Given the description of an element on the screen output the (x, y) to click on. 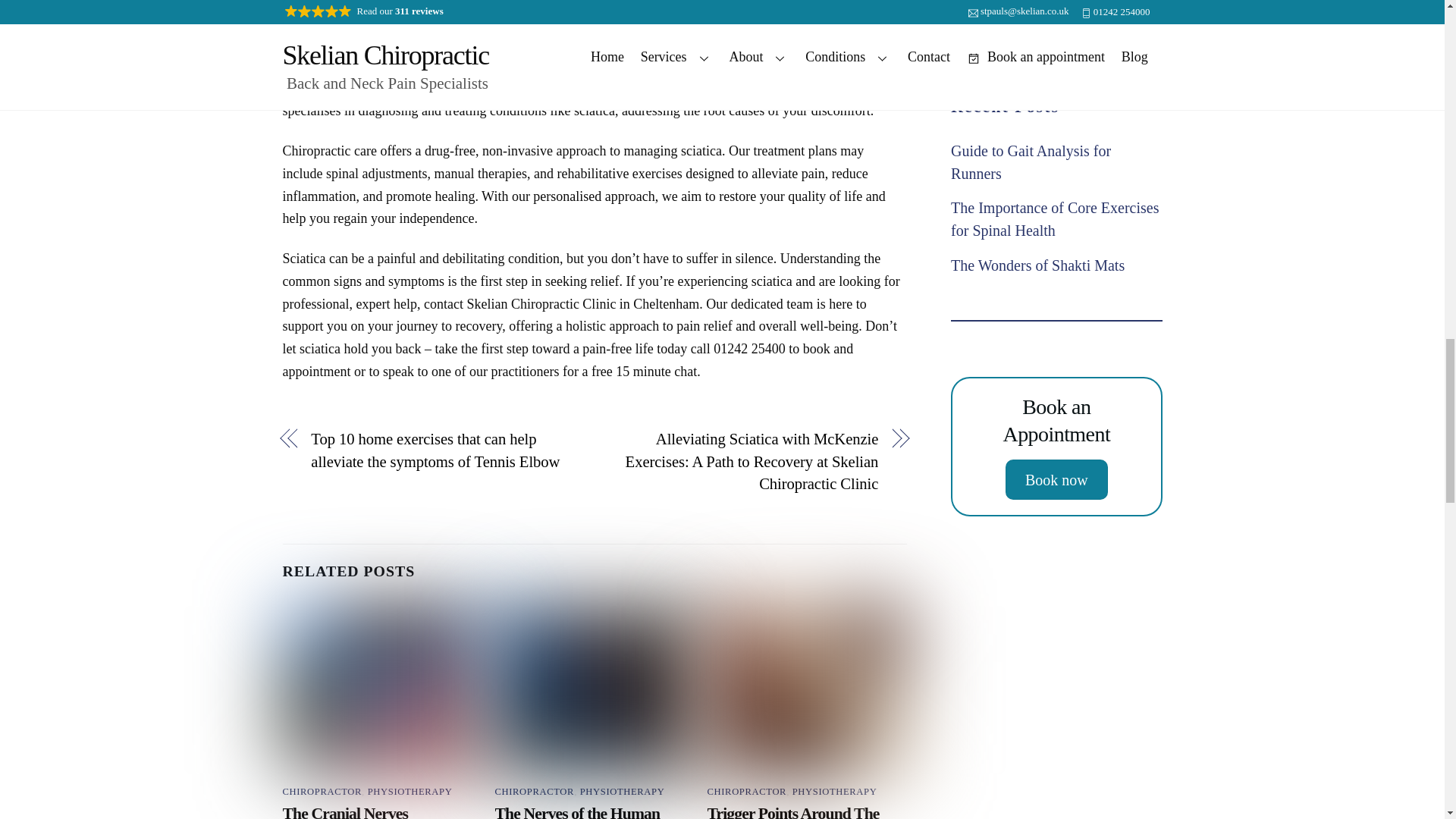
ryutaro-uozumi-9vQG6v1md1s-unsplash (595, 689)
pexels-kindelmedia-7298881 (807, 689)
pexels-pixabay-256302 (381, 689)
